Given the description of an element on the screen output the (x, y) to click on. 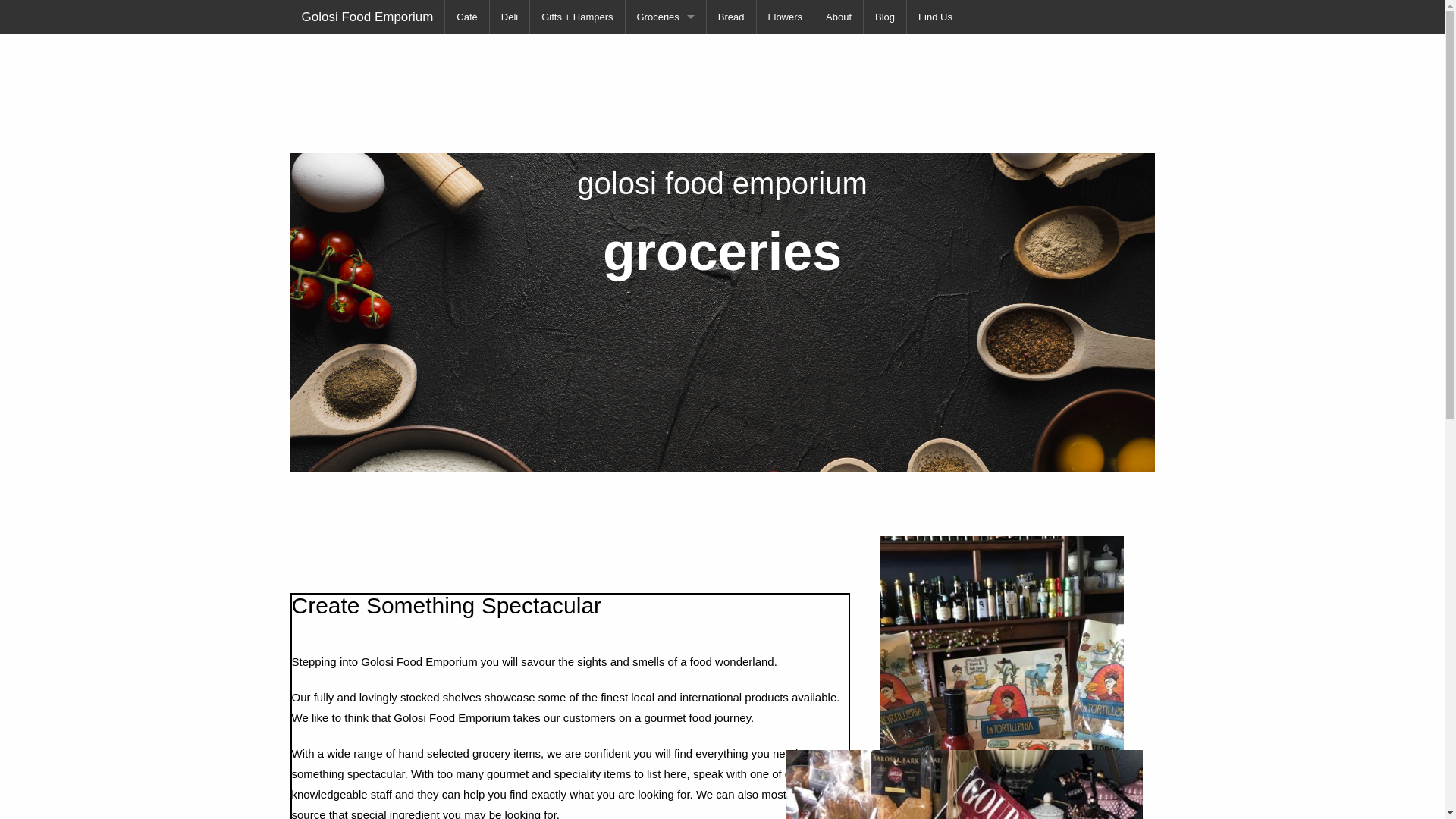
Groceries Element type: text (664, 17)
Find Us Element type: text (934, 17)
Blog Element type: text (884, 17)
Flowers Element type: text (785, 17)
Gifts + Hampers Element type: text (577, 17)
Bread Element type: text (731, 17)
Deli Element type: text (509, 17)
Golosi Food Emporium Element type: text (366, 17)
About Element type: text (838, 17)
